Given the description of an element on the screen output the (x, y) to click on. 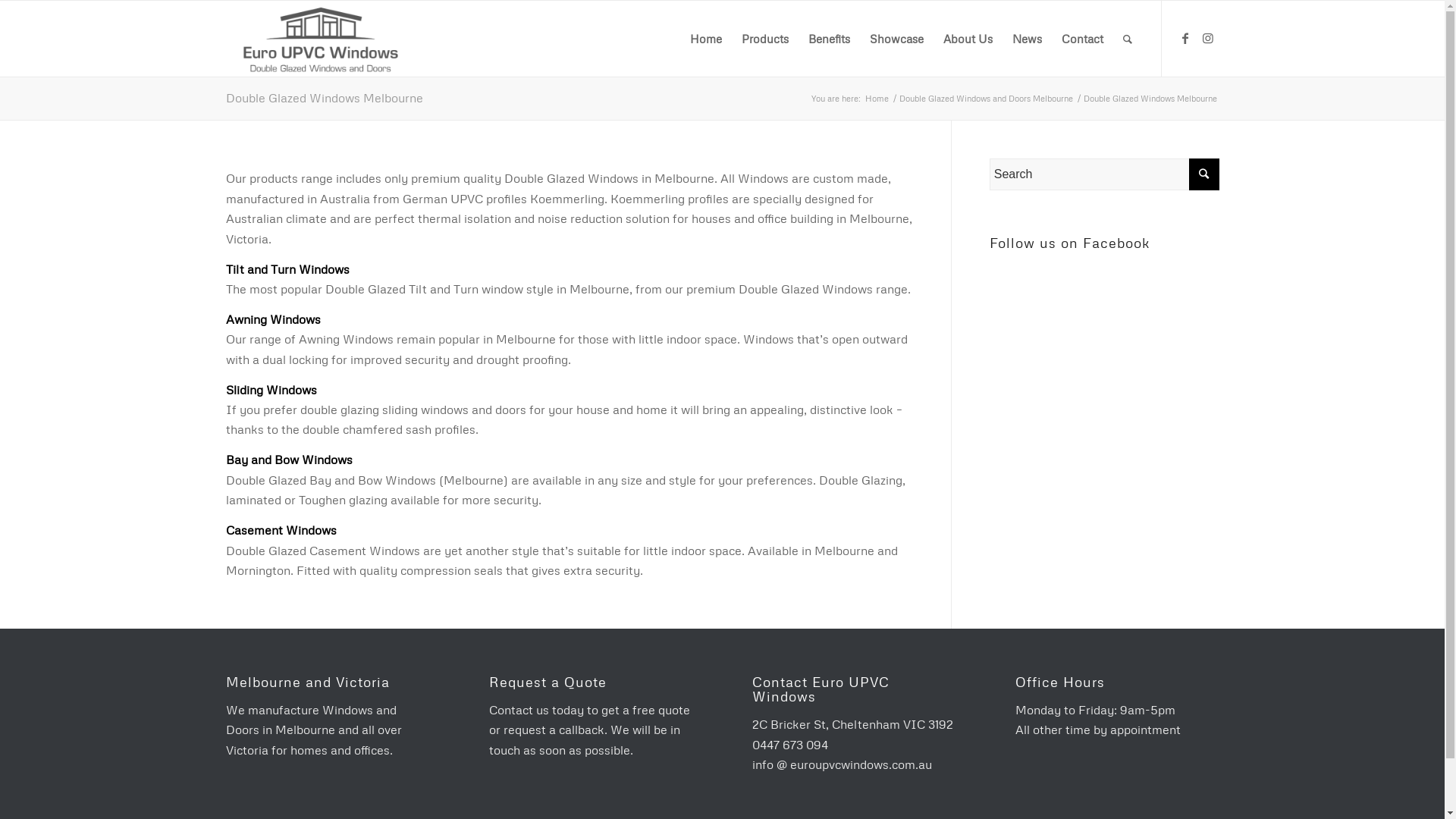
Instagram Element type: hover (1207, 37)
Double Glazed Windows and Doors Melbourne Element type: text (985, 97)
Benefits Element type: text (828, 38)
Home Element type: text (876, 97)
Double Glazed Windows Melbourne Element type: text (324, 97)
About Us Element type: text (966, 38)
Facebook Element type: hover (1184, 37)
Home Element type: text (705, 38)
News Element type: text (1026, 38)
Products Element type: text (764, 38)
Contact Element type: text (1081, 38)
Showcase Element type: text (896, 38)
